Given the description of an element on the screen output the (x, y) to click on. 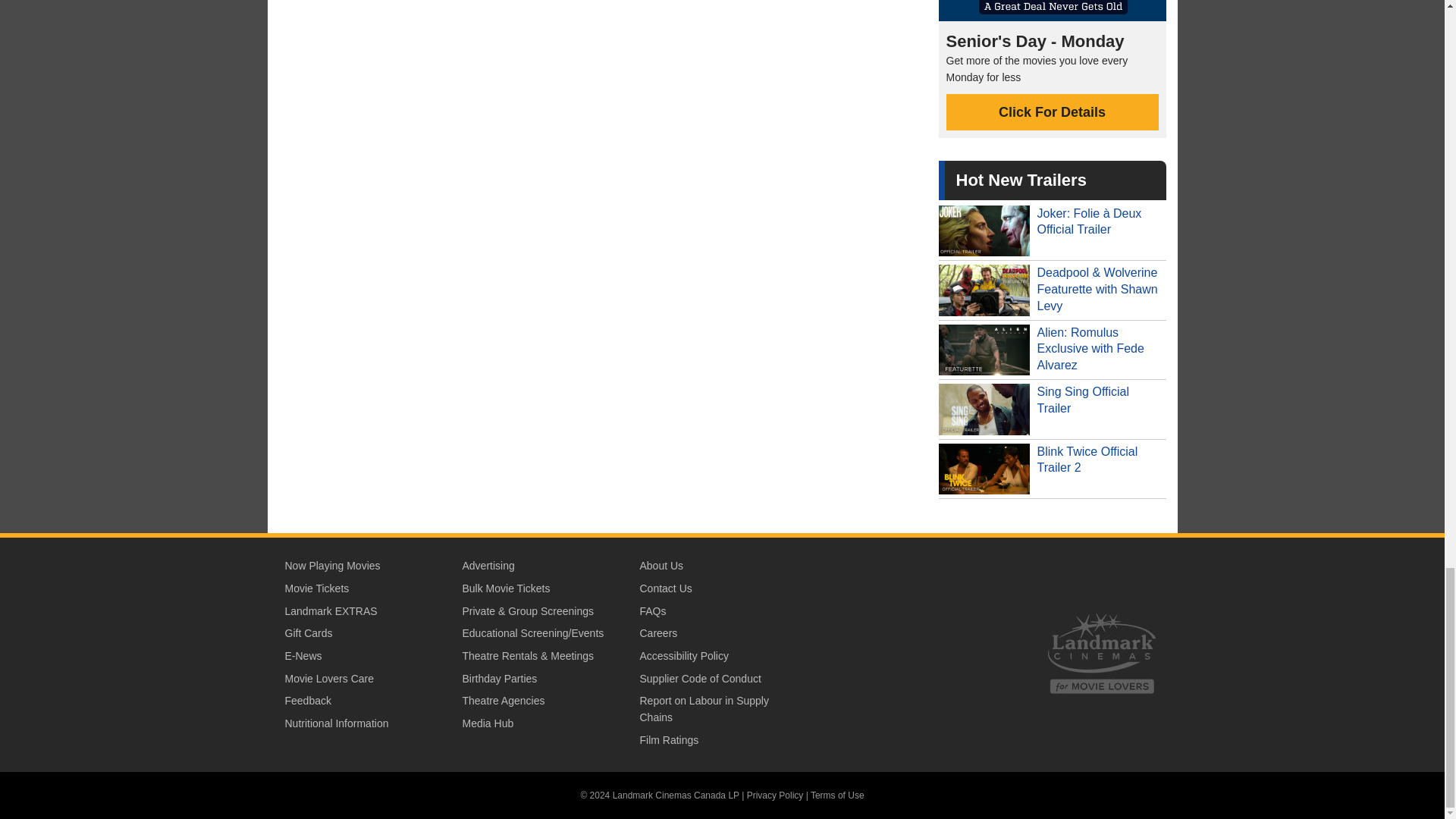
Alien: Romulus Exclusive with Fede Alvarez (1052, 350)
Click For Details (1052, 112)
Blink Twice Official Trailer 2 (1052, 468)
Sing Sing Official Trailer (1052, 409)
